Given the description of an element on the screen output the (x, y) to click on. 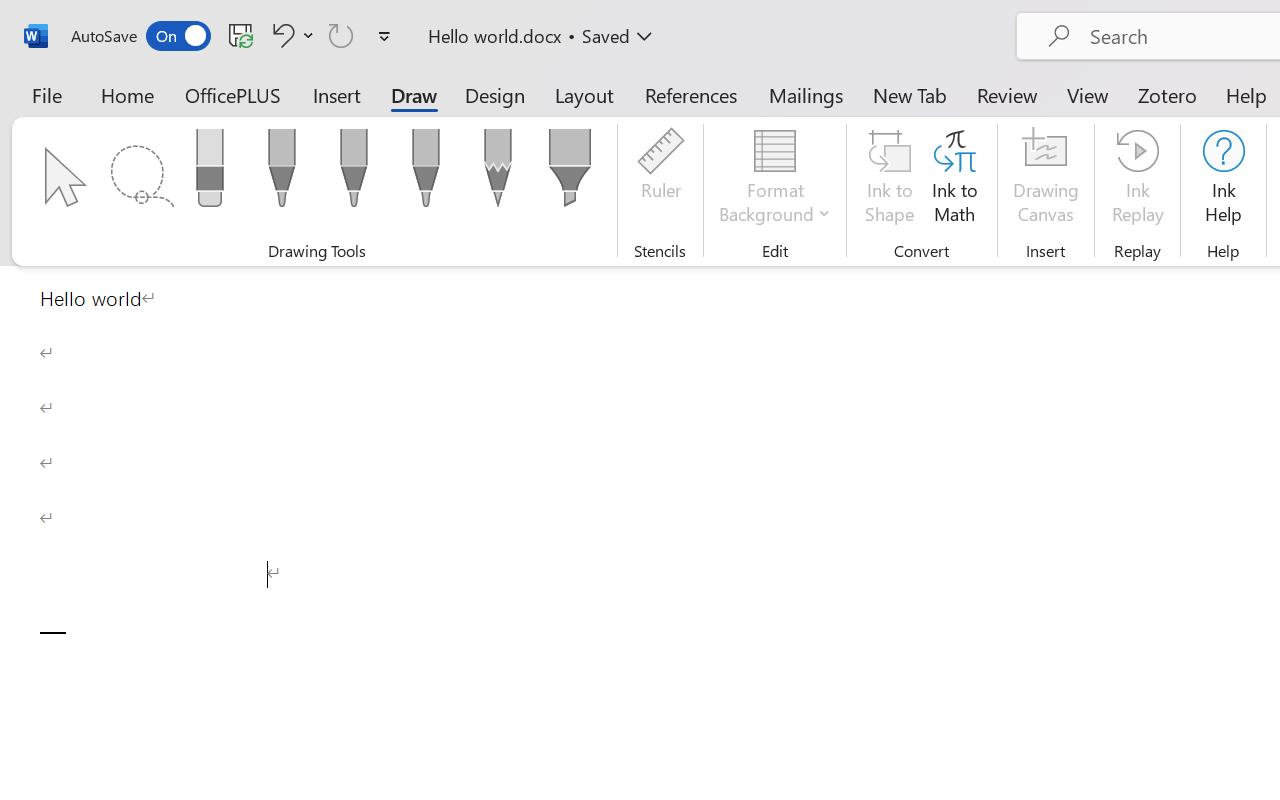
New Tab (909, 94)
Insert (337, 94)
Design (495, 94)
Draw (413, 94)
Ink Help (1223, 179)
Undo Paragraph Formatting (280, 35)
Zotero (1166, 94)
Customize Quick Access Toolbar (384, 35)
File Tab (46, 94)
More Options (308, 35)
Highlighter: Yellow, 6 mm (569, 173)
AutoSave (140, 35)
